Given the description of an element on the screen output the (x, y) to click on. 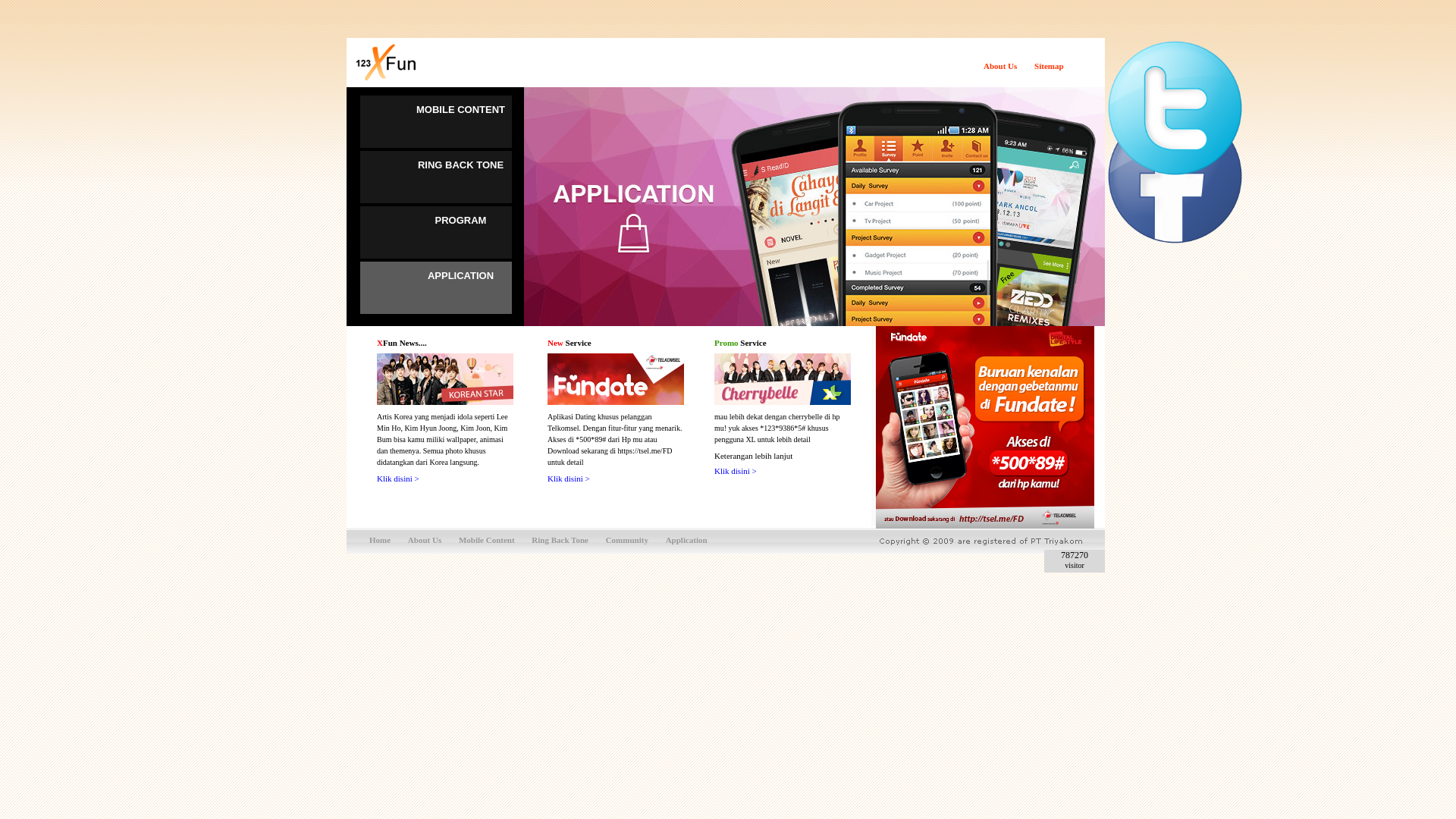
Community Element type: text (626, 539)
About Us Element type: text (999, 65)
Mobile Content Element type: text (486, 539)
Application Element type: text (686, 539)
123xfun Element type: hover (1174, 173)
Sitemap Element type: text (1048, 65)
Klik disini > Element type: text (568, 478)
About Us Element type: text (424, 539)
Home Element type: text (379, 539)
Ring Back Tone Element type: text (559, 539)
Klik disini > Element type: text (735, 470)
Klik disini > Element type: text (397, 478)
